Given the description of an element on the screen output the (x, y) to click on. 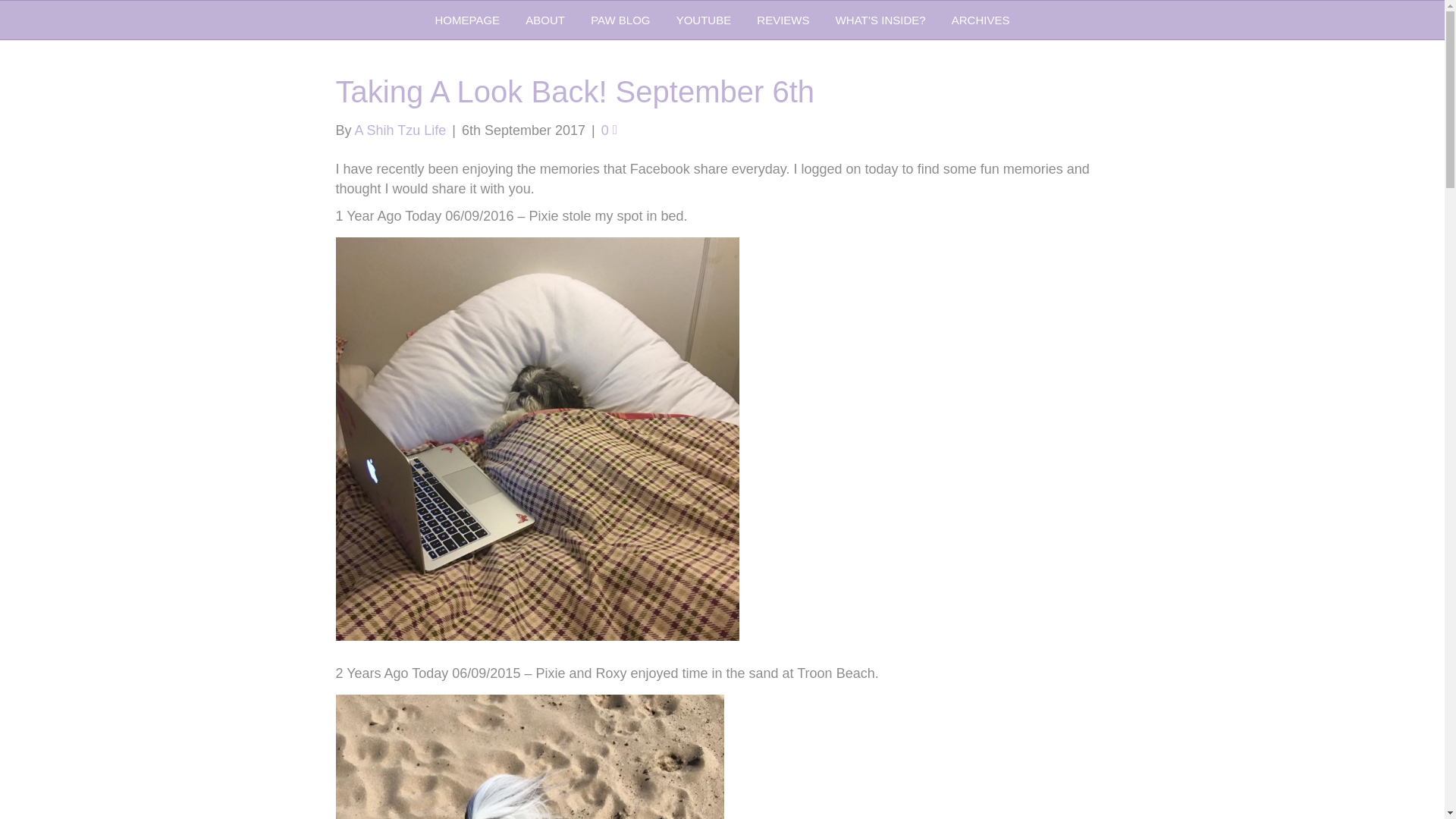
PAW BLOG (620, 19)
ARCHIVES (981, 19)
REVIEWS (783, 19)
YOUTUBE (703, 19)
A Shih Tzu Life (400, 130)
ABOUT (544, 19)
HOMEPAGE (467, 19)
0 (609, 130)
